Given the description of an element on the screen output the (x, y) to click on. 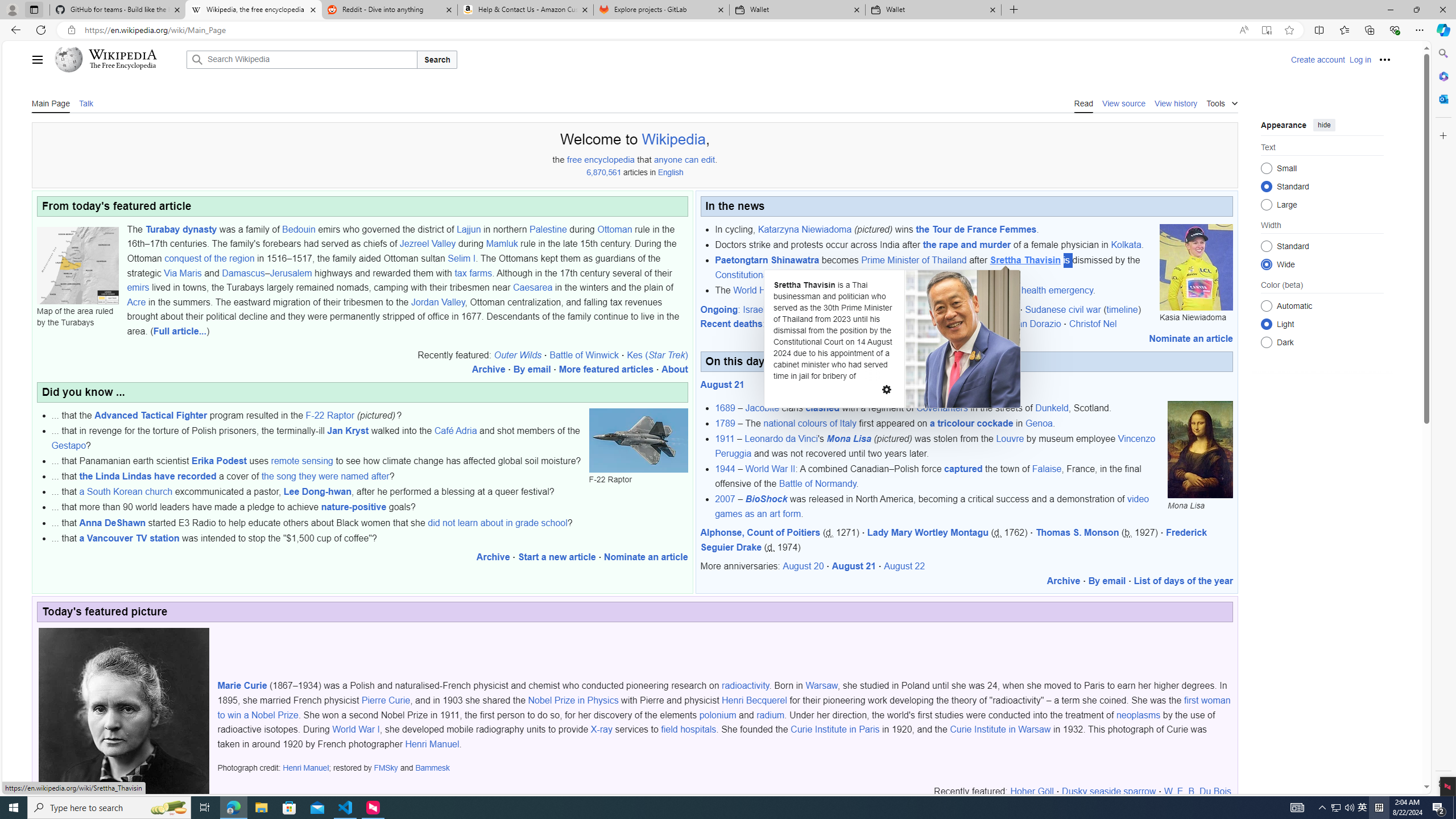
Jacobite (762, 407)
FMSky (385, 768)
tax farms (473, 272)
More featured articles (606, 369)
Via Maris (182, 272)
Henri Becquerel (754, 700)
did not learn about in grade school (497, 522)
Sudanese civil war (timeline) (1083, 309)
anyone can edit (683, 159)
About (674, 369)
